Given the description of an element on the screen output the (x, y) to click on. 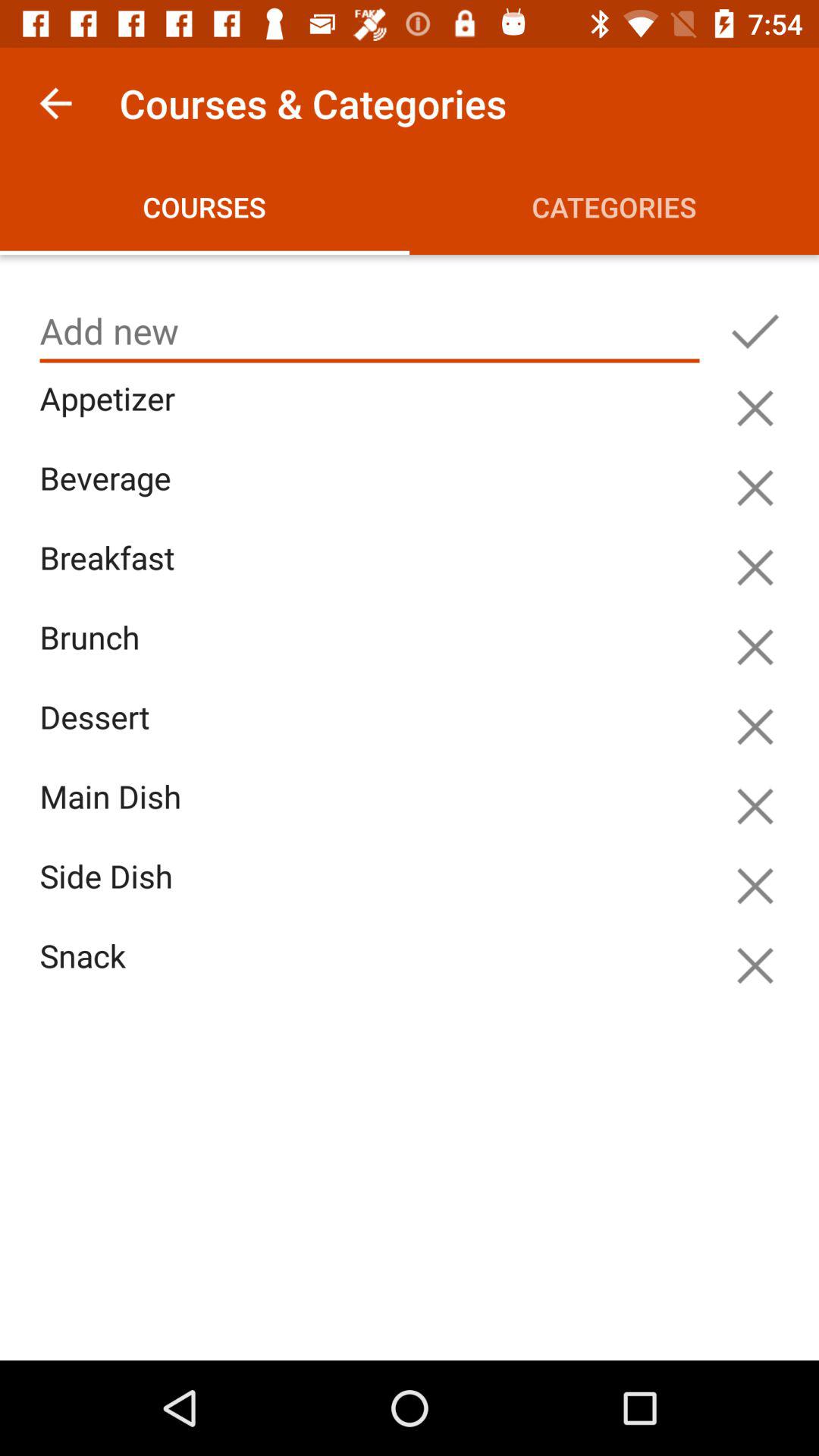
add new meal course (369, 331)
